Given the description of an element on the screen output the (x, y) to click on. 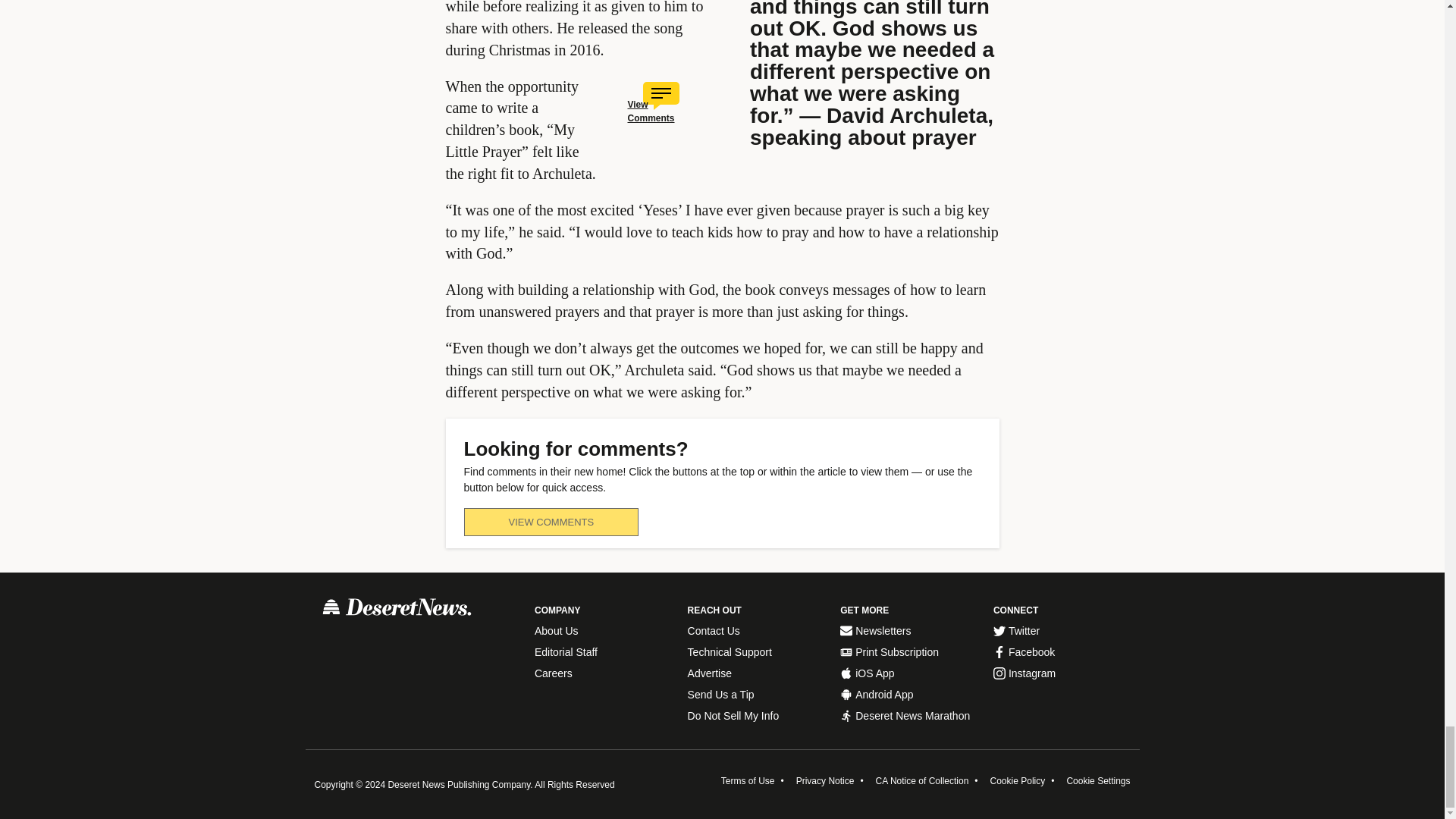
Do Not Sell My Info (757, 715)
Terms of Use (747, 780)
Send Us a Tip (757, 694)
Newsletters (909, 630)
Instagram (1062, 673)
Print Subscription (909, 652)
Facebook (1062, 652)
Advertise (757, 673)
Contact Us (757, 630)
Twitter (1062, 630)
